Given the description of an element on the screen output the (x, y) to click on. 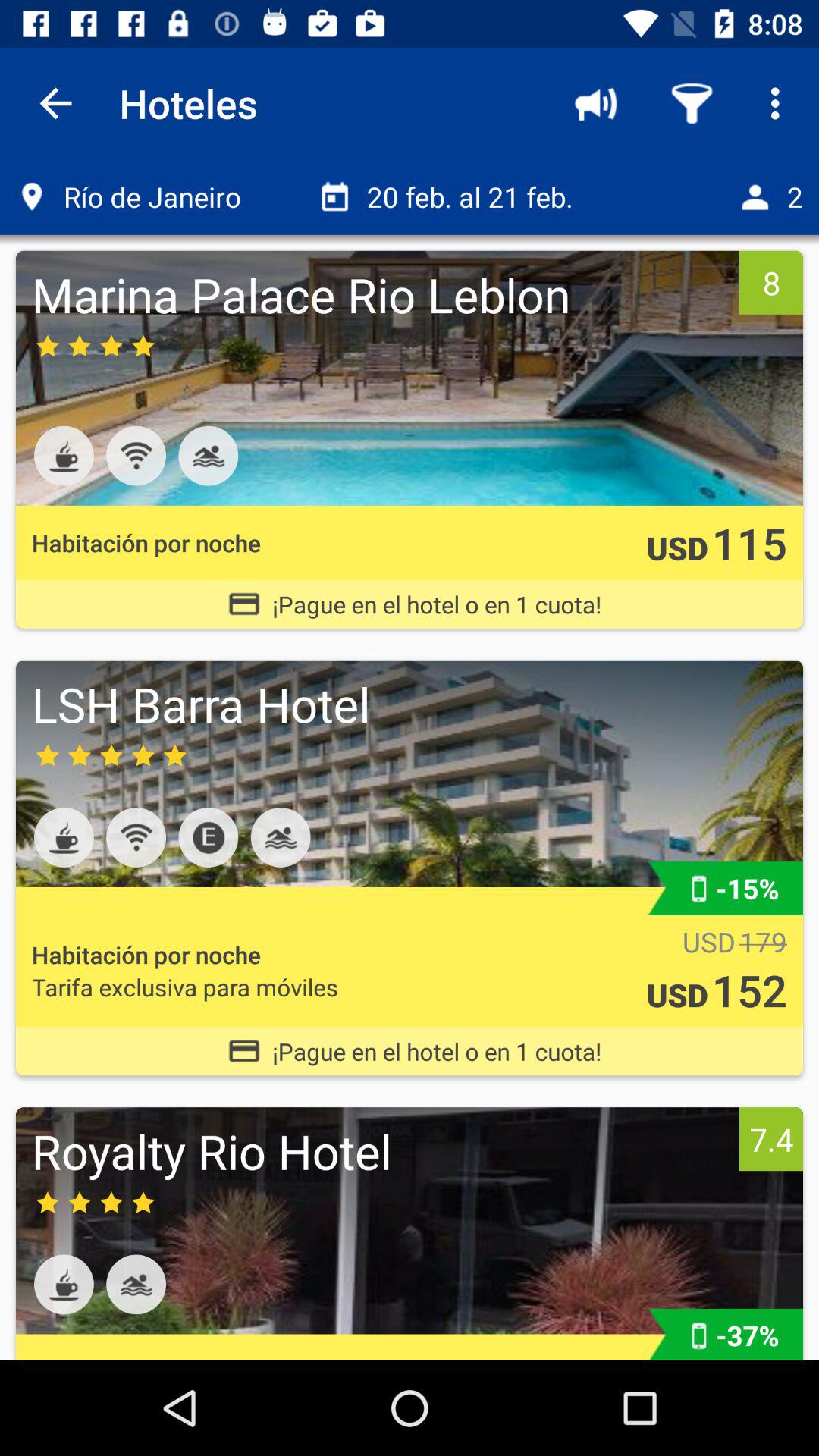
flip to -15% icon (747, 888)
